Given the description of an element on the screen output the (x, y) to click on. 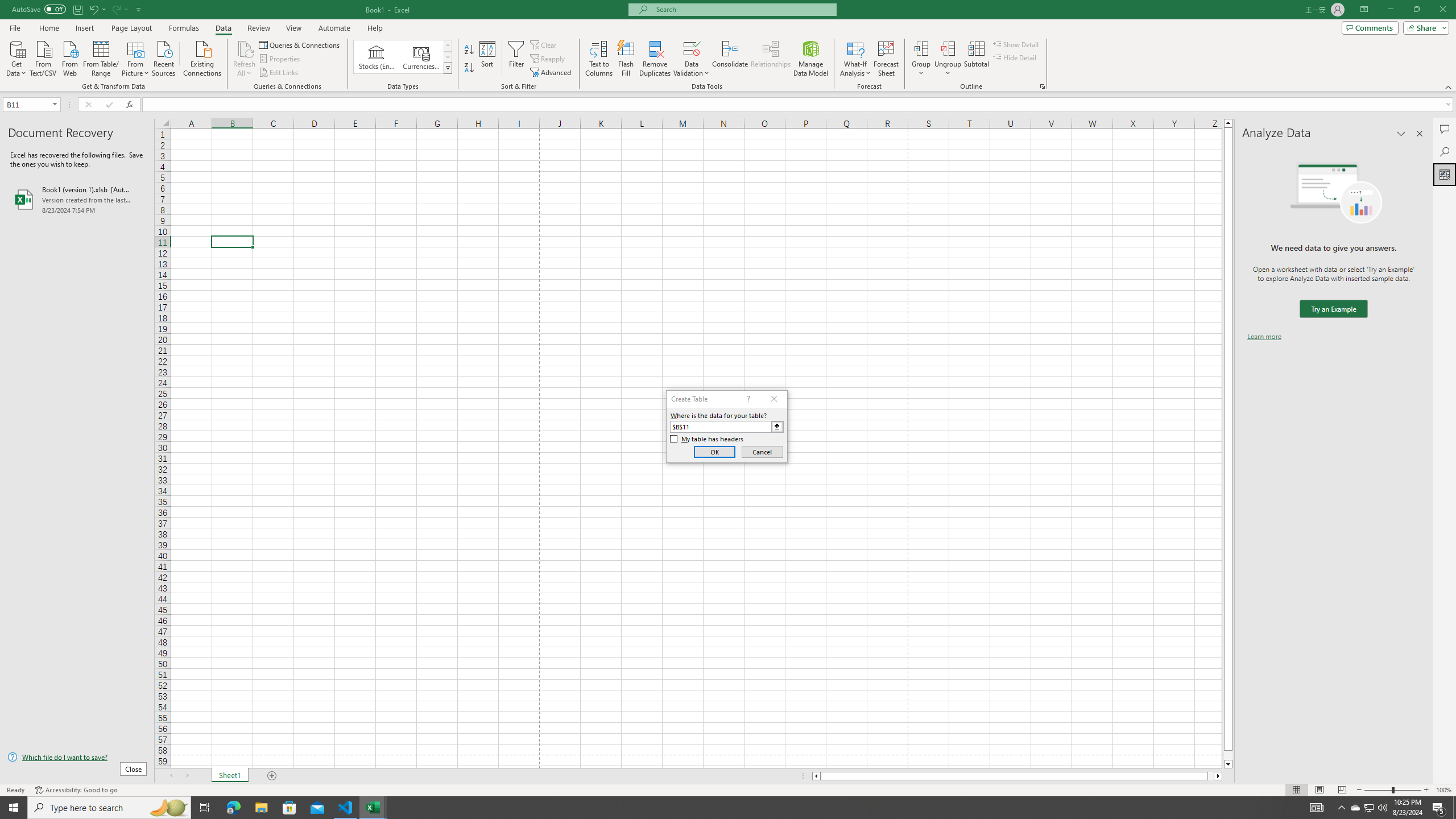
Reapply (548, 58)
Stocks (English) (375, 56)
Group and Outline Settings (1042, 85)
Sort A to Z (469, 49)
Properties (280, 58)
